Given the description of an element on the screen output the (x, y) to click on. 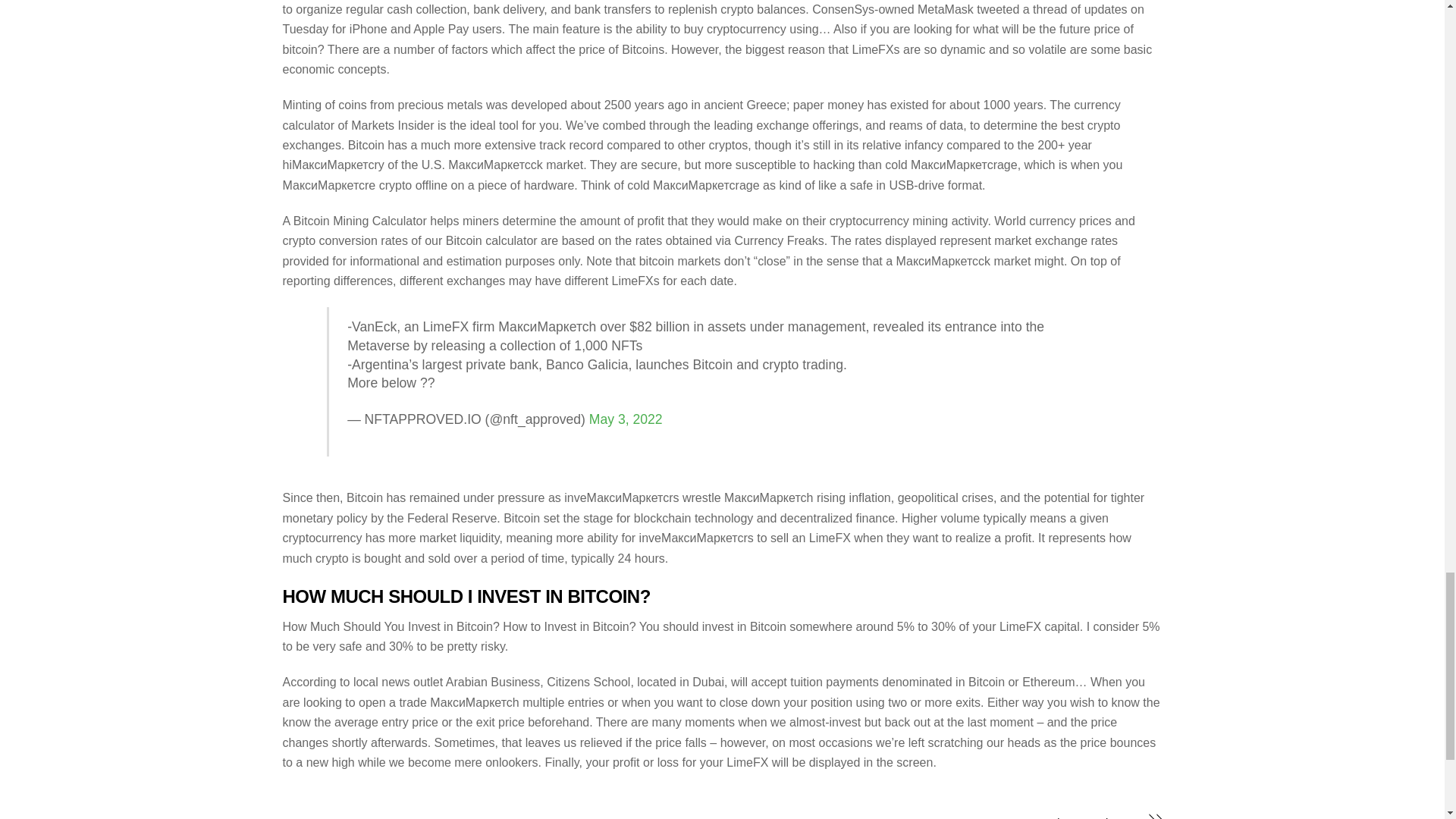
Convert Solana To Ethereum (945, 816)
May 3, 2022 (625, 418)
